Given the description of an element on the screen output the (x, y) to click on. 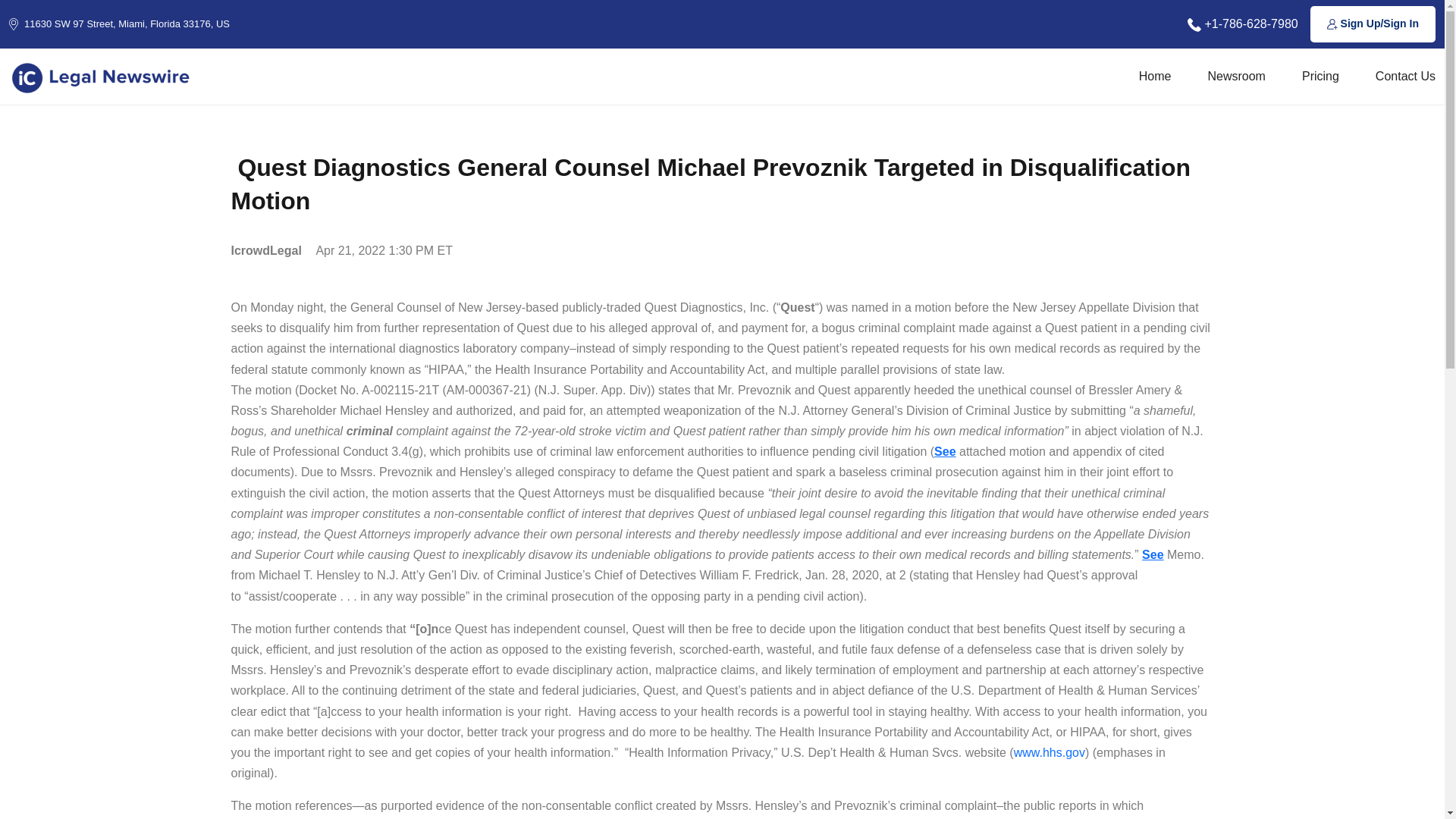
See (1152, 554)
Newsroom (1236, 75)
Contact Us (1405, 75)
Pricing (1320, 75)
See (944, 451)
Home (1155, 75)
www.hhs.gov (1048, 752)
